Given the description of an element on the screen output the (x, y) to click on. 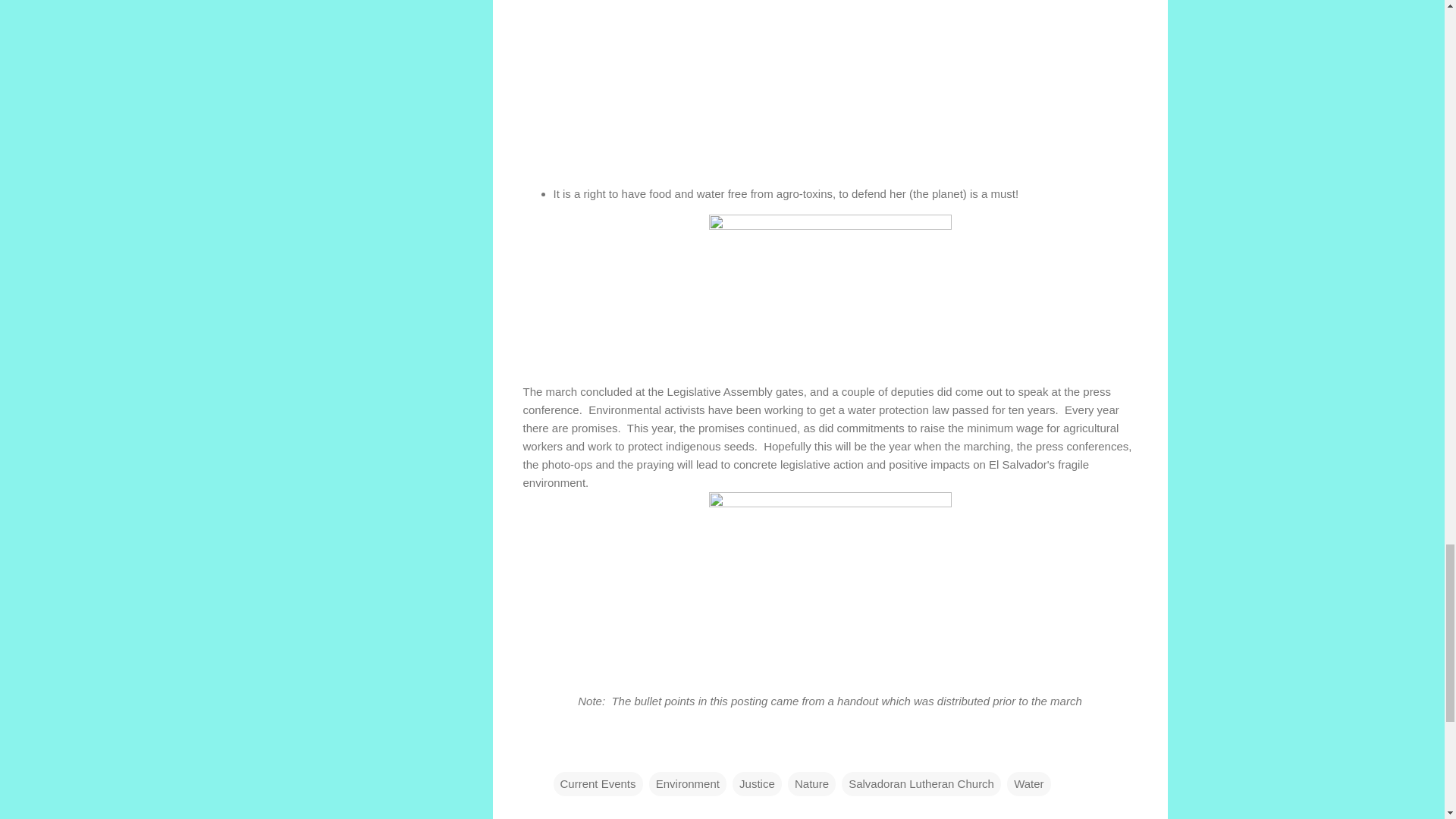
Justice (756, 784)
Environment (687, 784)
Water (1028, 784)
Current Events (598, 784)
Salvadoran Lutheran Church (921, 784)
Email Post (562, 752)
Nature (811, 784)
